Given the description of an element on the screen output the (x, y) to click on. 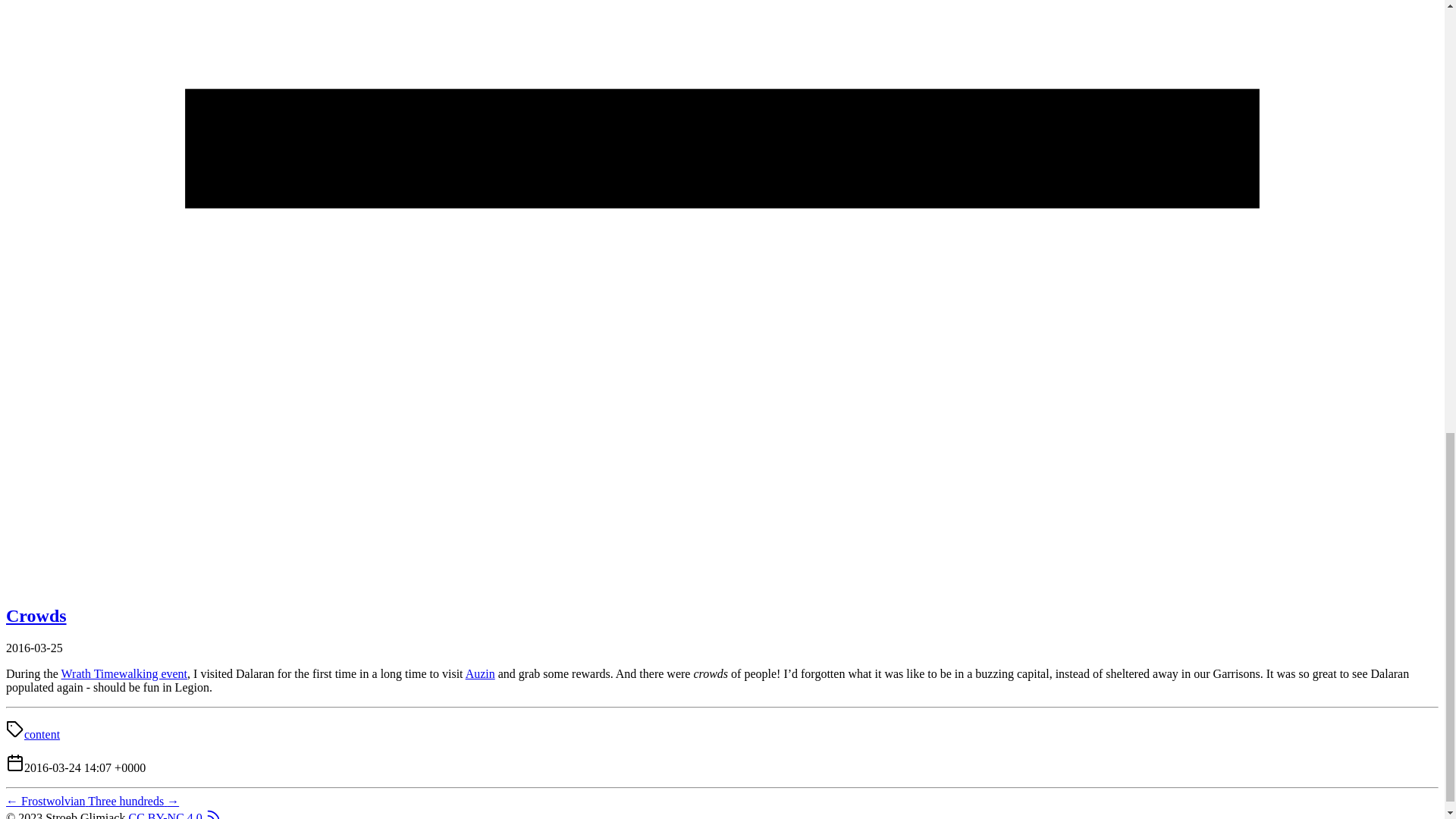
content (41, 734)
Crowds (35, 615)
Wrath Timewalking event (124, 673)
Auzin (480, 673)
